Given the description of an element on the screen output the (x, y) to click on. 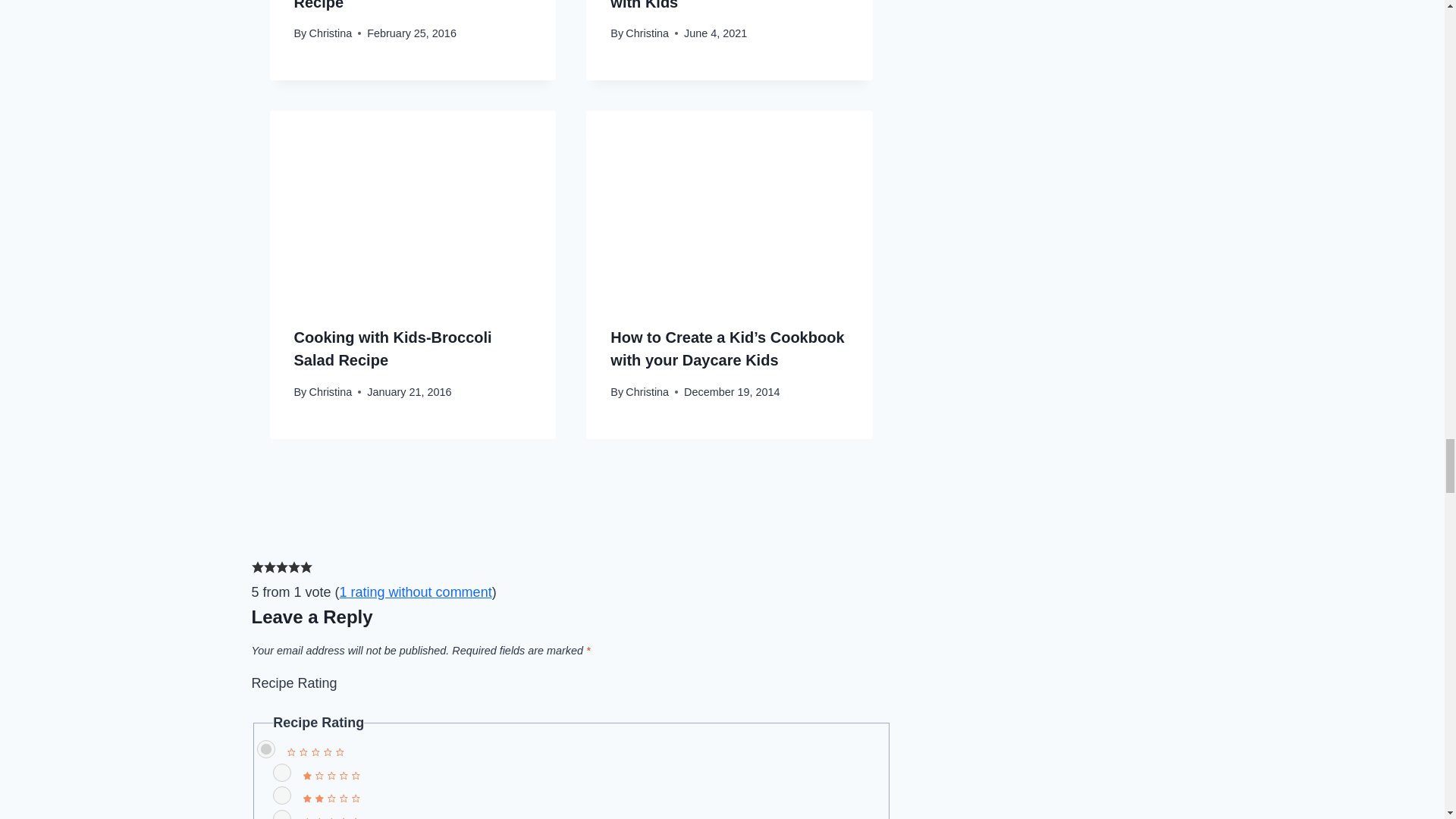
2 (282, 795)
3 (282, 814)
0 (266, 749)
1 (282, 772)
